Given the description of an element on the screen output the (x, y) to click on. 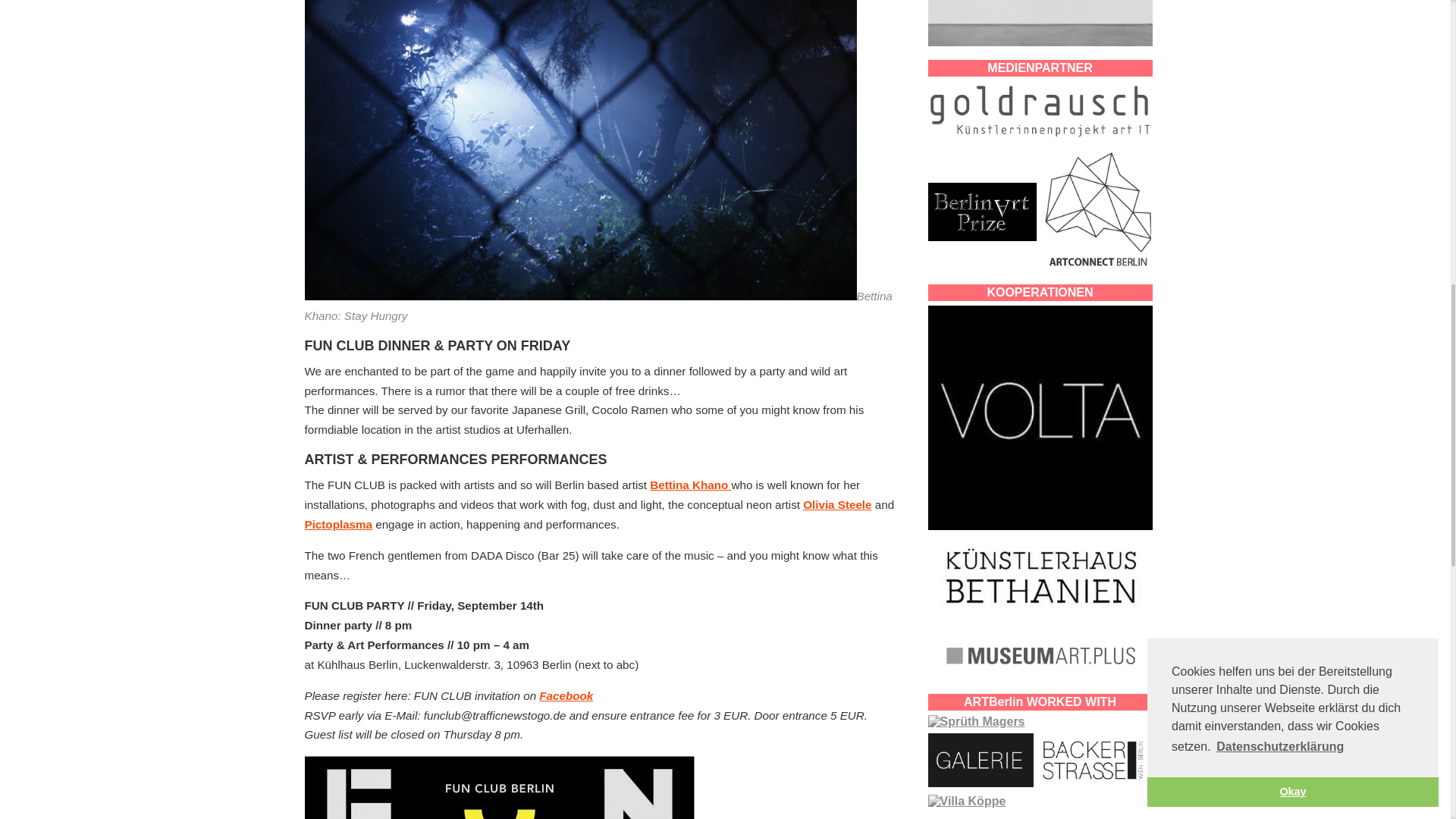
Pictoplasma (338, 523)
Fashion Week Guide. Where art meets fashion. (689, 484)
Olivia Steele (836, 504)
